Given the description of an element on the screen output the (x, y) to click on. 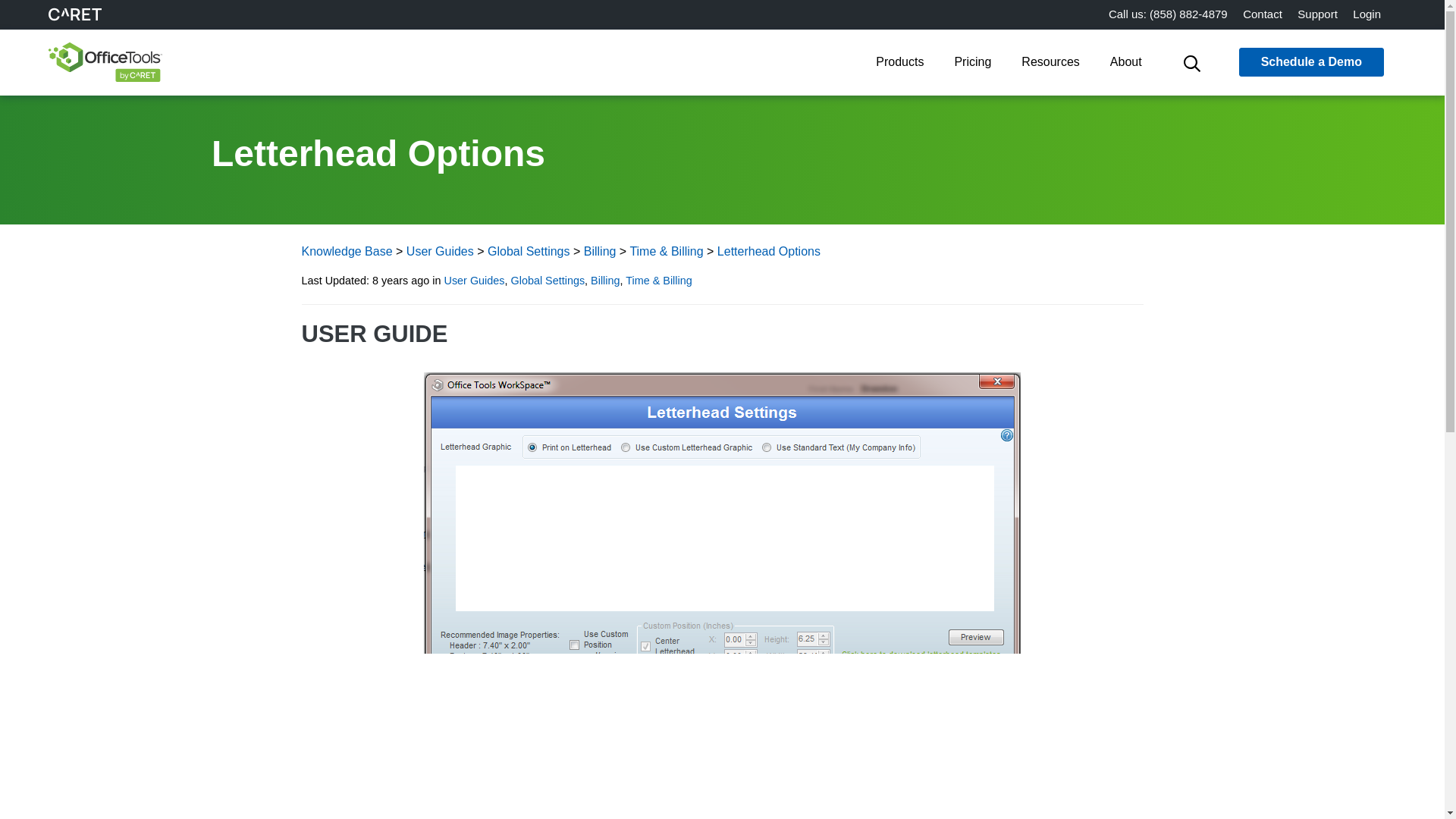
Resources (1049, 63)
User Guides (440, 250)
Schedule a Demo (1311, 61)
Knowledge Base (347, 250)
Global Settings (528, 250)
Letterhead Options (769, 250)
OfficeTools (98, 61)
Billing (599, 250)
Login (1366, 14)
Support (1317, 14)
Contact (1262, 14)
